Given the description of an element on the screen output the (x, y) to click on. 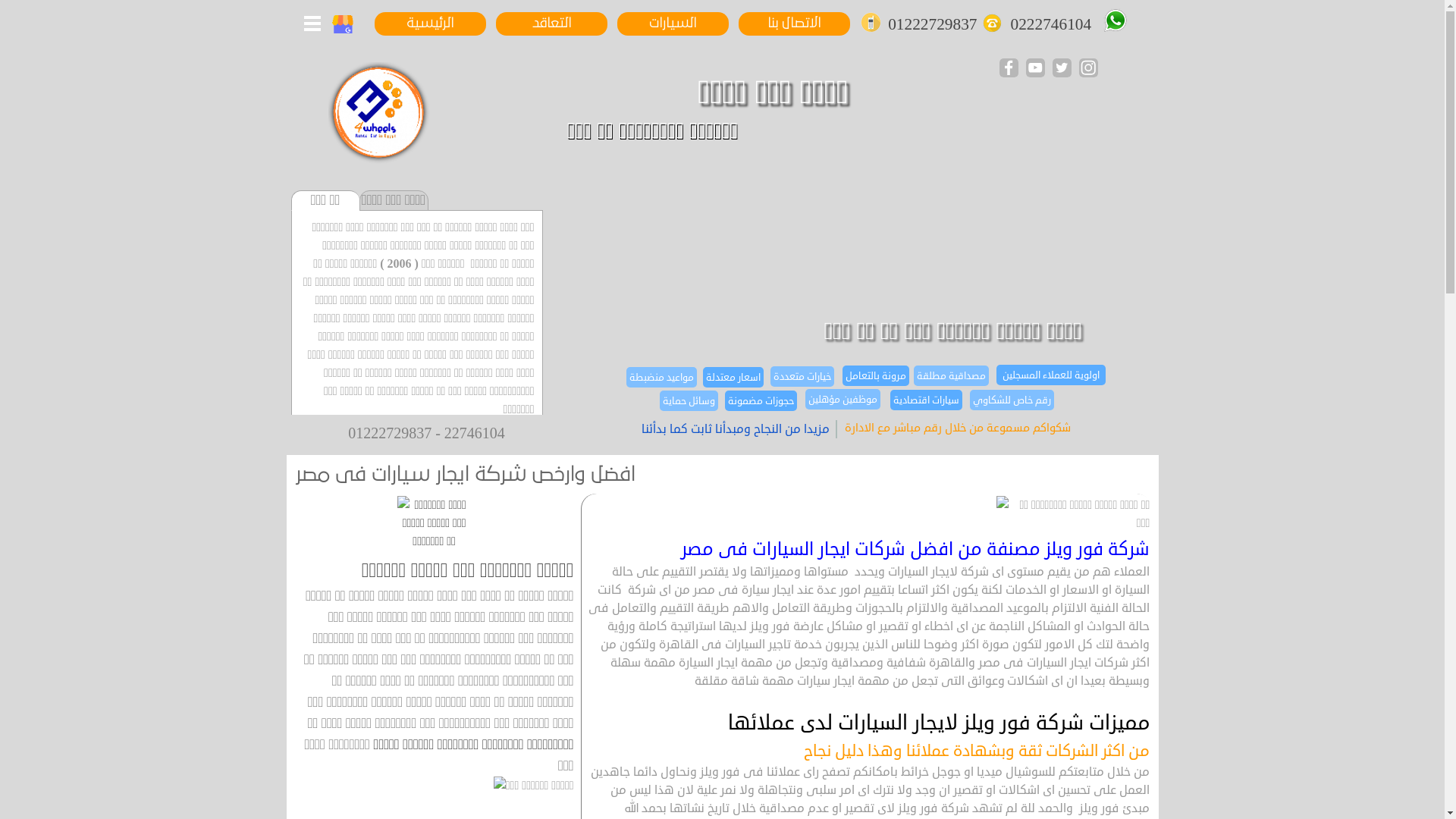
01222729837 Element type: text (934, 24)
0222746104 Element type: text (1050, 24)
Google My Business Page Element type: hover (342, 24)
